Given the description of an element on the screen output the (x, y) to click on. 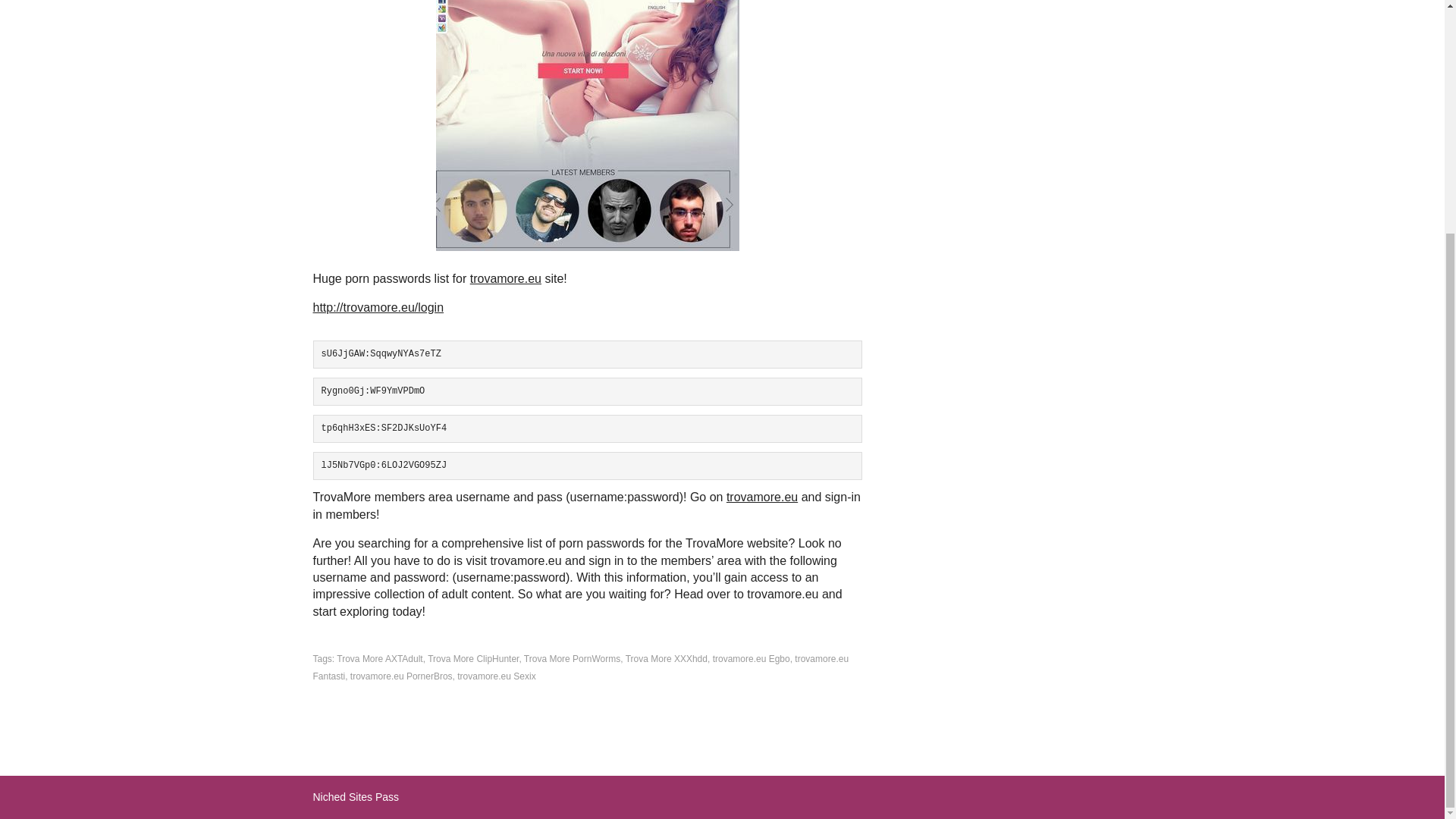
Trova More ClipHunter (473, 658)
trovamore.eu Egbo (751, 658)
Trova More (587, 125)
Trova More XXXhdd (666, 658)
trovamore.eu PornerBros (401, 675)
trovamore.eu Sexix (496, 675)
trovamore.eu (761, 496)
Trova More AXTAdult (379, 658)
Trova More PornWorms (572, 658)
trovamore.eu (505, 278)
trovamore.eu Fantasti (580, 666)
